Given the description of an element on the screen output the (x, y) to click on. 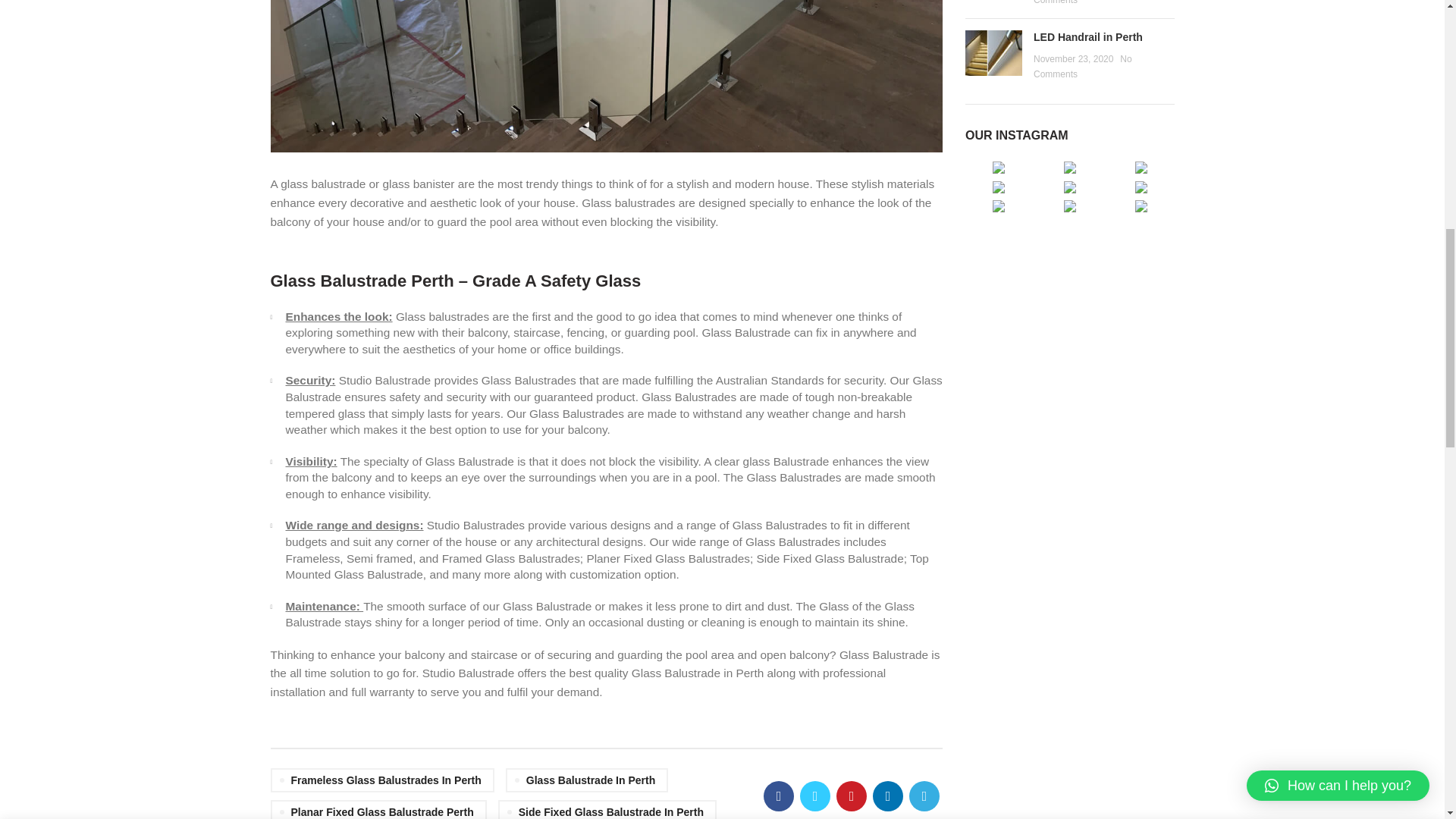
LED Handrail in Perth (993, 53)
Permalink to LED Handrail in Perth (1087, 37)
